Given the description of an element on the screen output the (x, y) to click on. 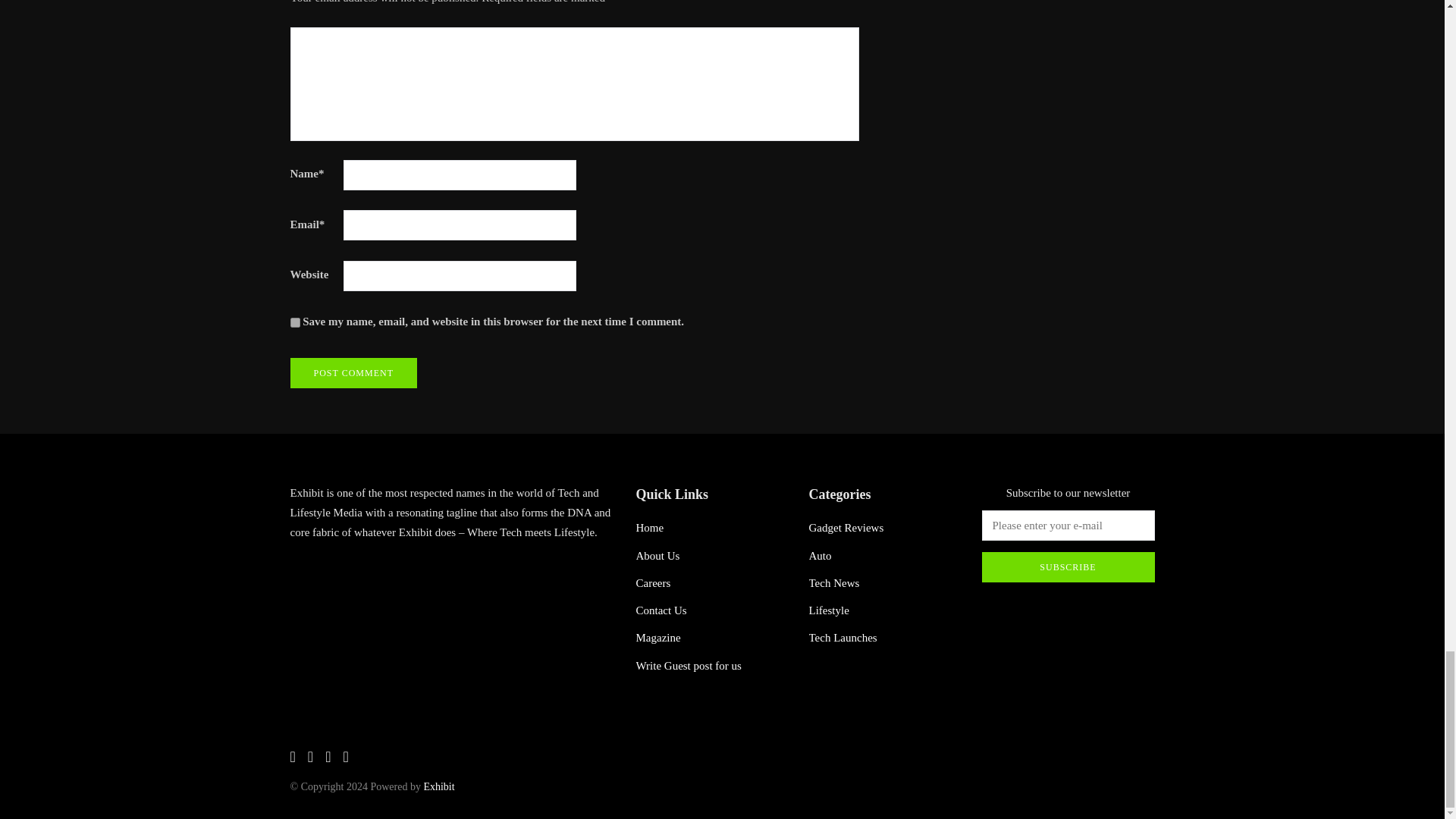
Post comment (352, 372)
yes (294, 322)
